Given the description of an element on the screen output the (x, y) to click on. 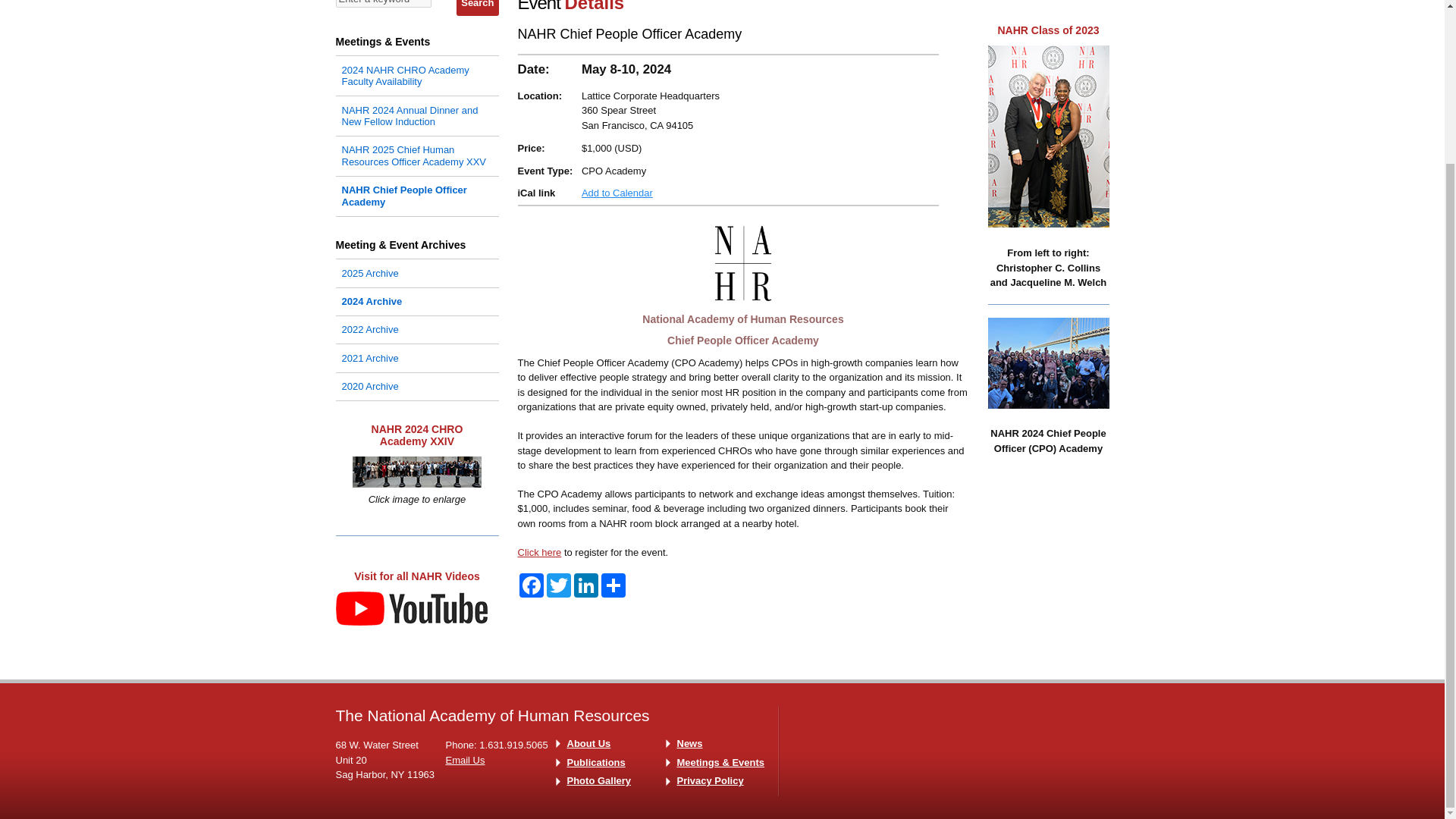
2024 NAHR CHRO Academy Faculty Availability (415, 75)
Search (477, 7)
Search (477, 7)
2024 NAHR CHRO Academy Faculty Availability (415, 75)
NAHR 2024 Annual Dinner and New Fellow Induction (415, 115)
Twitter (558, 585)
NAHR 2025 Chief Human Resources Officer Academy XXV (415, 155)
2022 Archive (415, 329)
NAHR Chief People Officer Academy (415, 196)
NAHR 2025 Chief Human Resources Officer Academy XXV (415, 155)
